Given the description of an element on the screen output the (x, y) to click on. 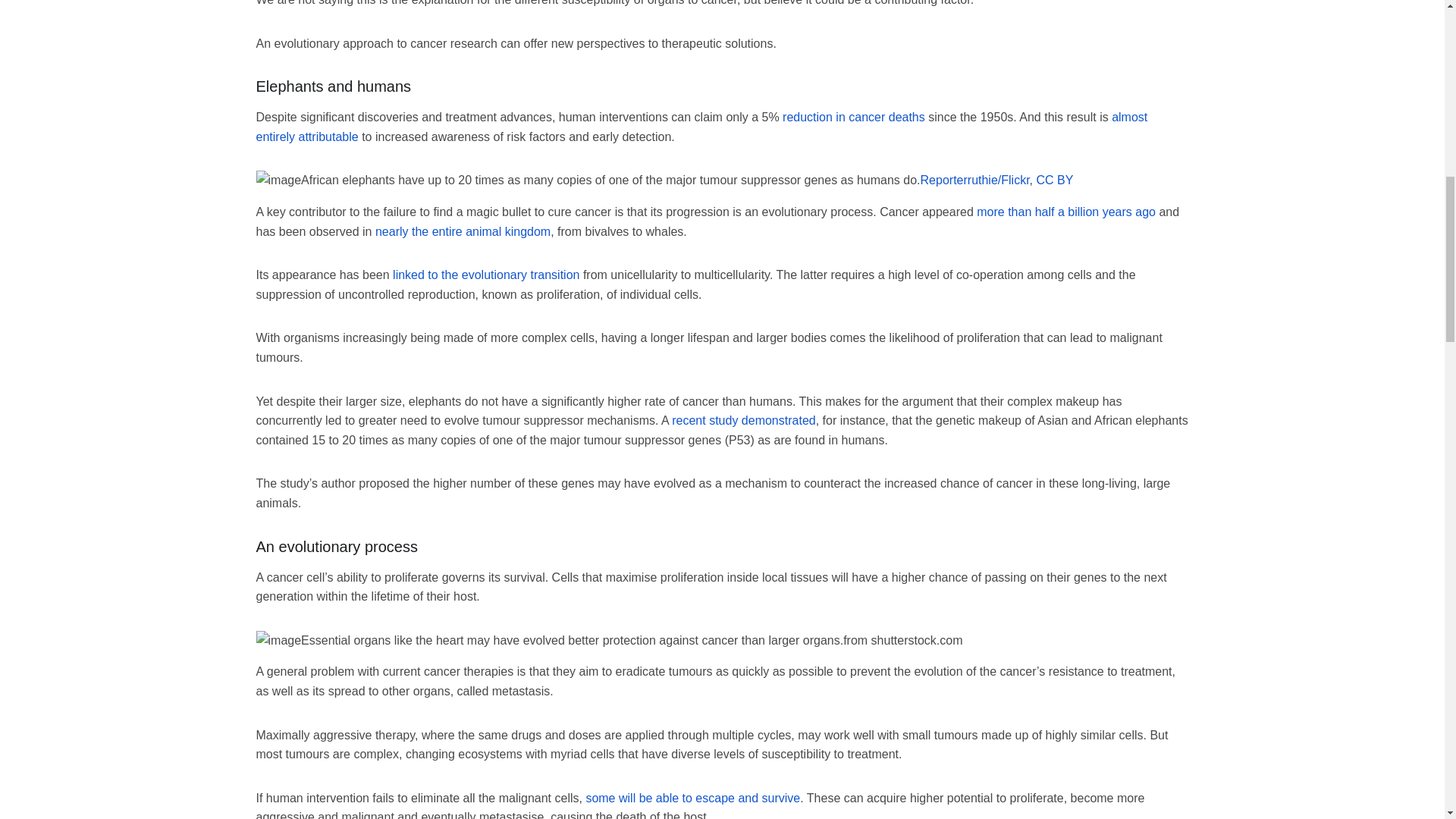
reduction in cancer deaths (853, 116)
